Given the description of an element on the screen output the (x, y) to click on. 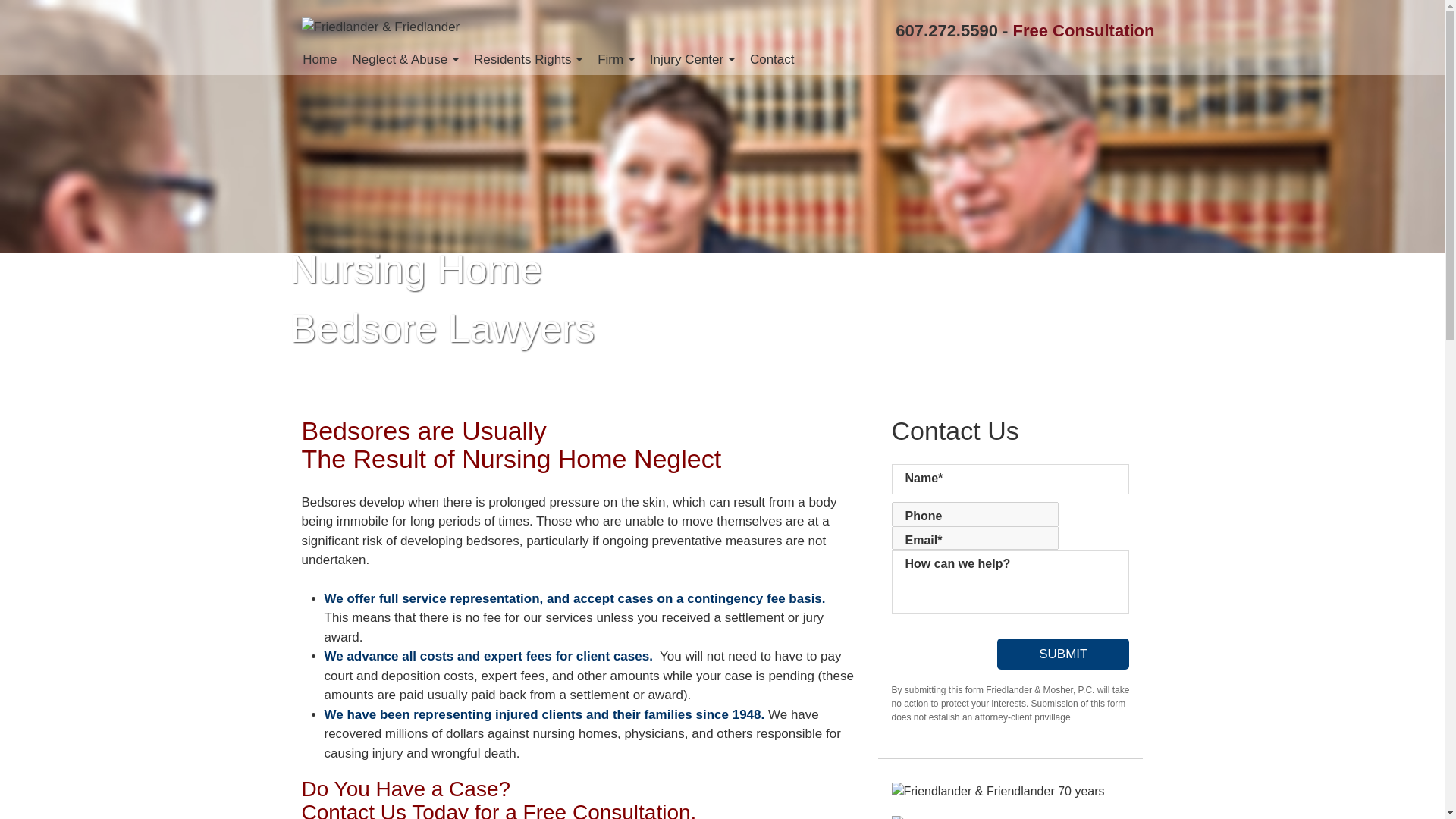
Home (319, 59)
Firm (615, 59)
Home (319, 59)
Injury Center (692, 59)
Submit (1063, 653)
Residents Rights (527, 59)
